Given the description of an element on the screen output the (x, y) to click on. 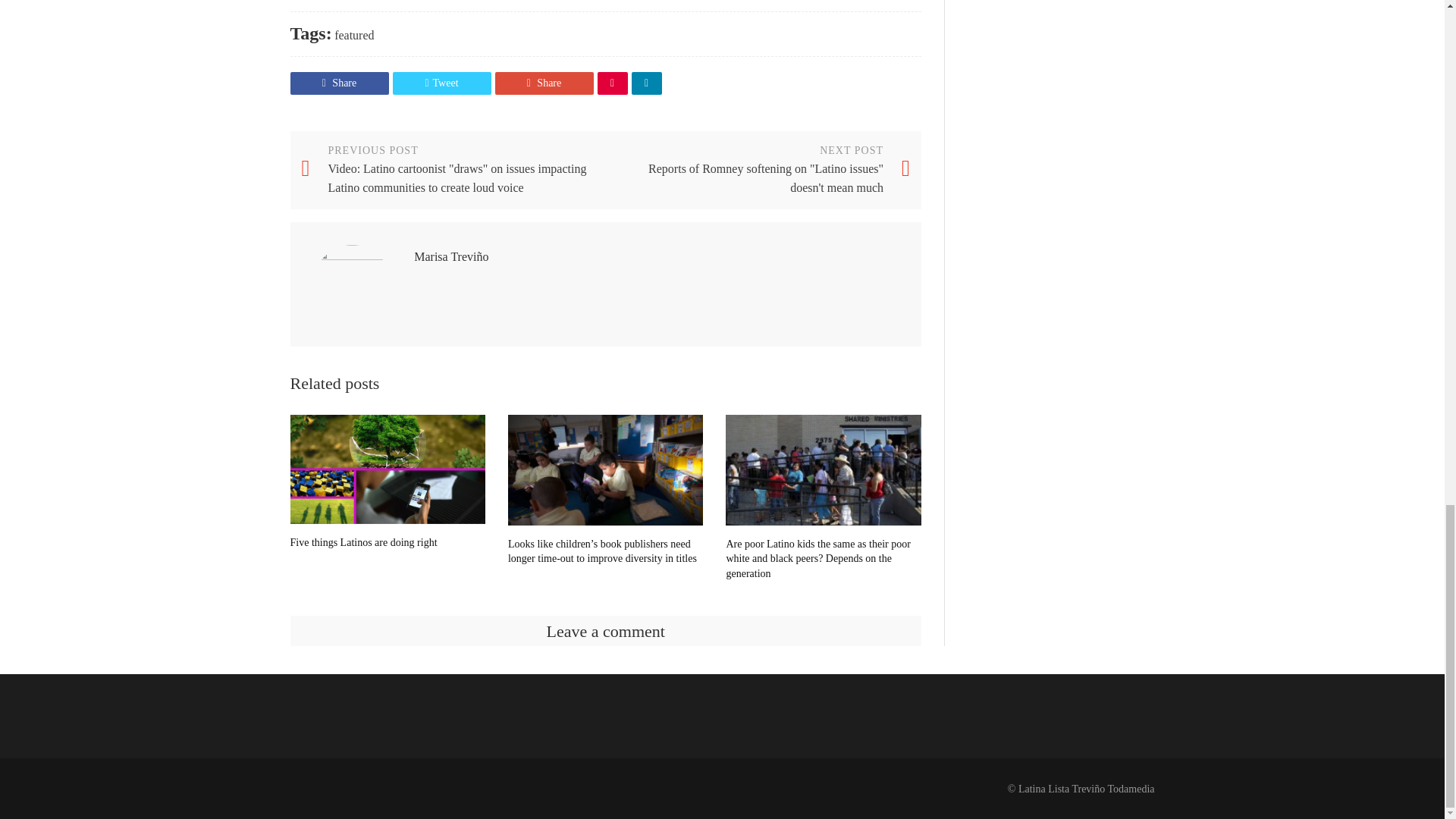
Five things Latinos are doing right (386, 468)
